Given the description of an element on the screen output the (x, y) to click on. 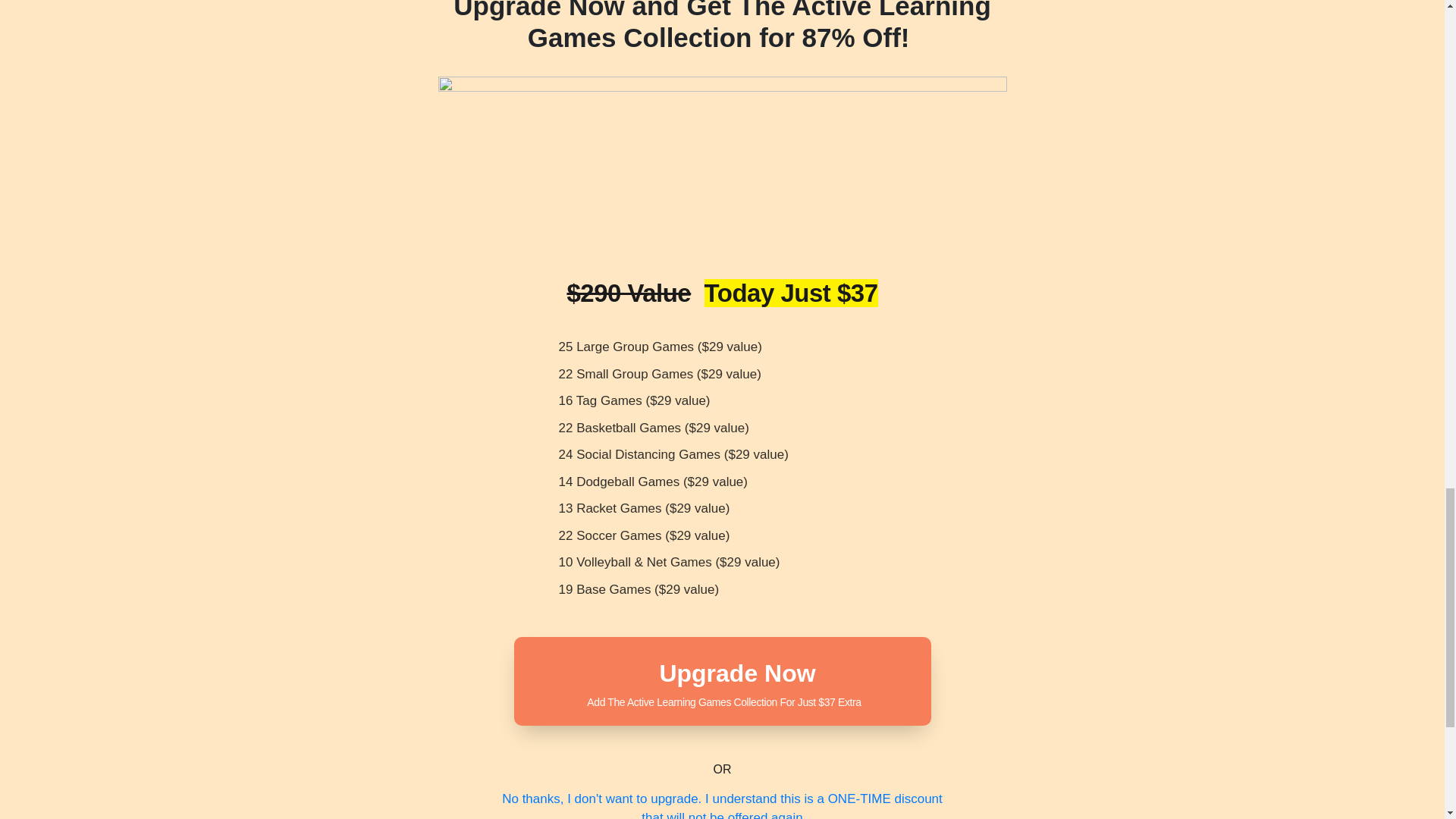
PEPowerhouseCollection2 (722, 165)
